Given the description of an element on the screen output the (x, y) to click on. 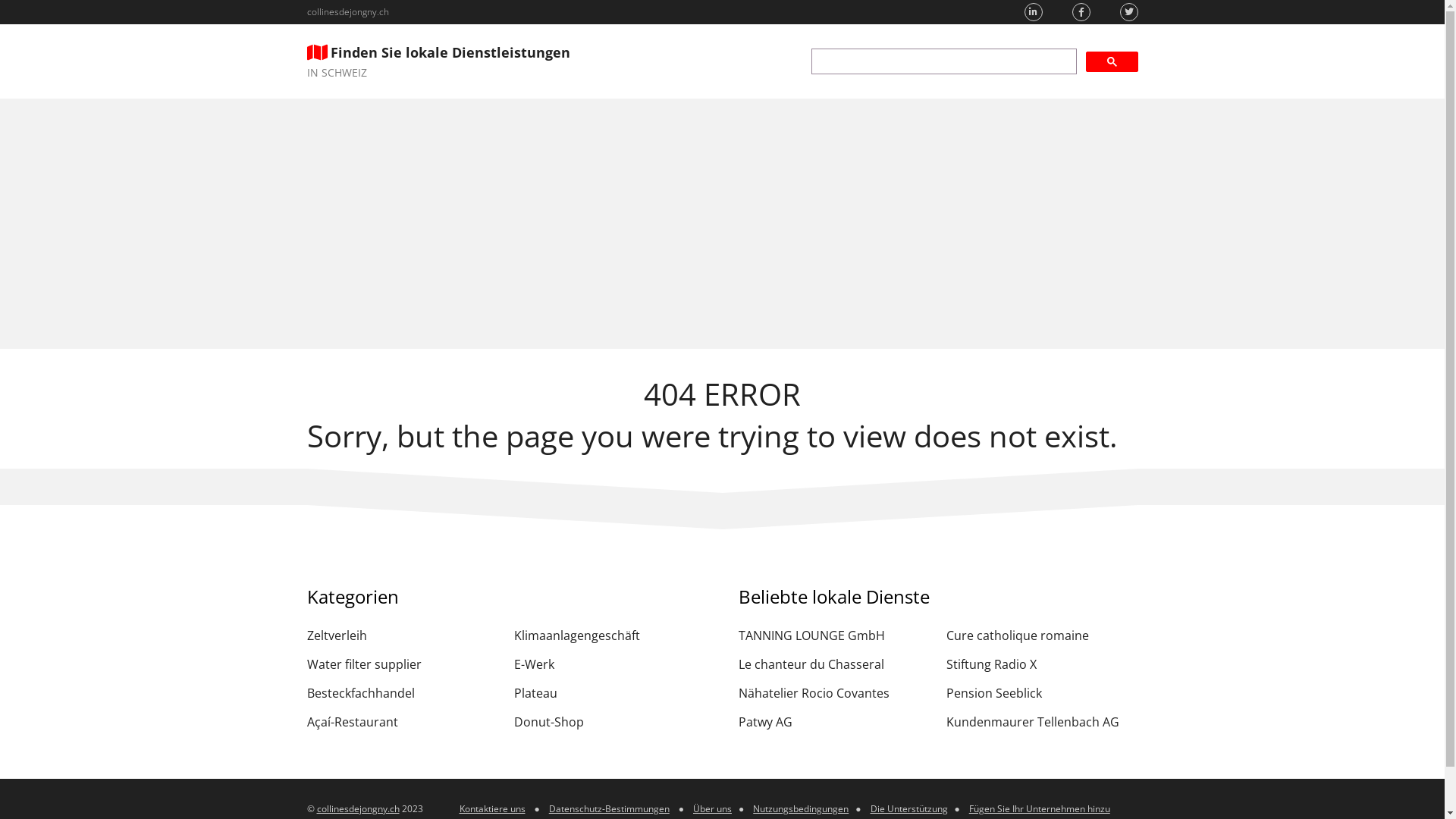
Nutzungsbedingungen Element type: text (800, 808)
Kontaktiere uns Element type: text (492, 808)
Kundenmaurer Tellenbach AG Element type: text (1042, 721)
Le chanteur du Chasseral Element type: text (834, 663)
Zeltverleih Element type: text (402, 635)
TANNING LOUNGE GmbH Element type: text (834, 635)
E-Werk Element type: text (610, 663)
Stiftung Radio X Element type: text (1042, 663)
Pension Seeblick Element type: text (1042, 692)
collinesdejongny.ch Element type: text (347, 12)
Patwy AG Element type: text (834, 721)
search Element type: hover (943, 61)
collinesdejongny.ch Element type: text (357, 808)
Finden Sie lokale Dienstleistungen
IN SCHWEIZ Element type: text (437, 61)
Cure catholique romaine Element type: text (1042, 635)
Plateau Element type: text (610, 692)
Advertisement Element type: hover (721, 223)
Water filter supplier Element type: text (402, 663)
Donut-Shop Element type: text (610, 721)
Datenschutz-Bestimmungen Element type: text (609, 808)
Besteckfachhandel Element type: text (402, 692)
